Given the description of an element on the screen output the (x, y) to click on. 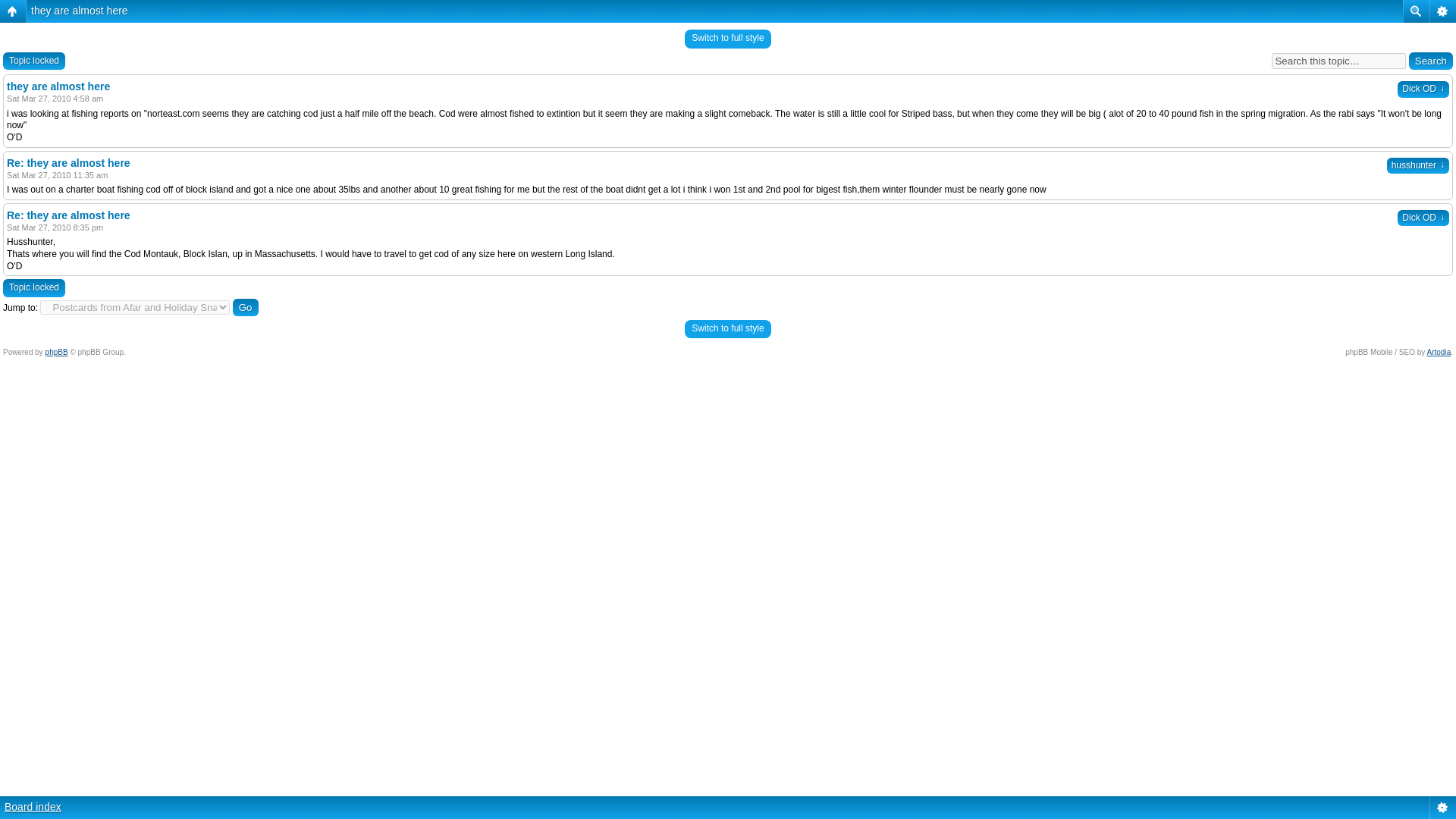
Search (1431, 60)
they are almost here (79, 10)
Search (1431, 60)
phpBB (56, 352)
Go (245, 307)
Board index (32, 806)
Topic locked (33, 61)
Artodia (1438, 352)
Switch to full style (727, 38)
Topic locked (33, 288)
Switch to full style (727, 329)
Go (245, 307)
